Given the description of an element on the screen output the (x, y) to click on. 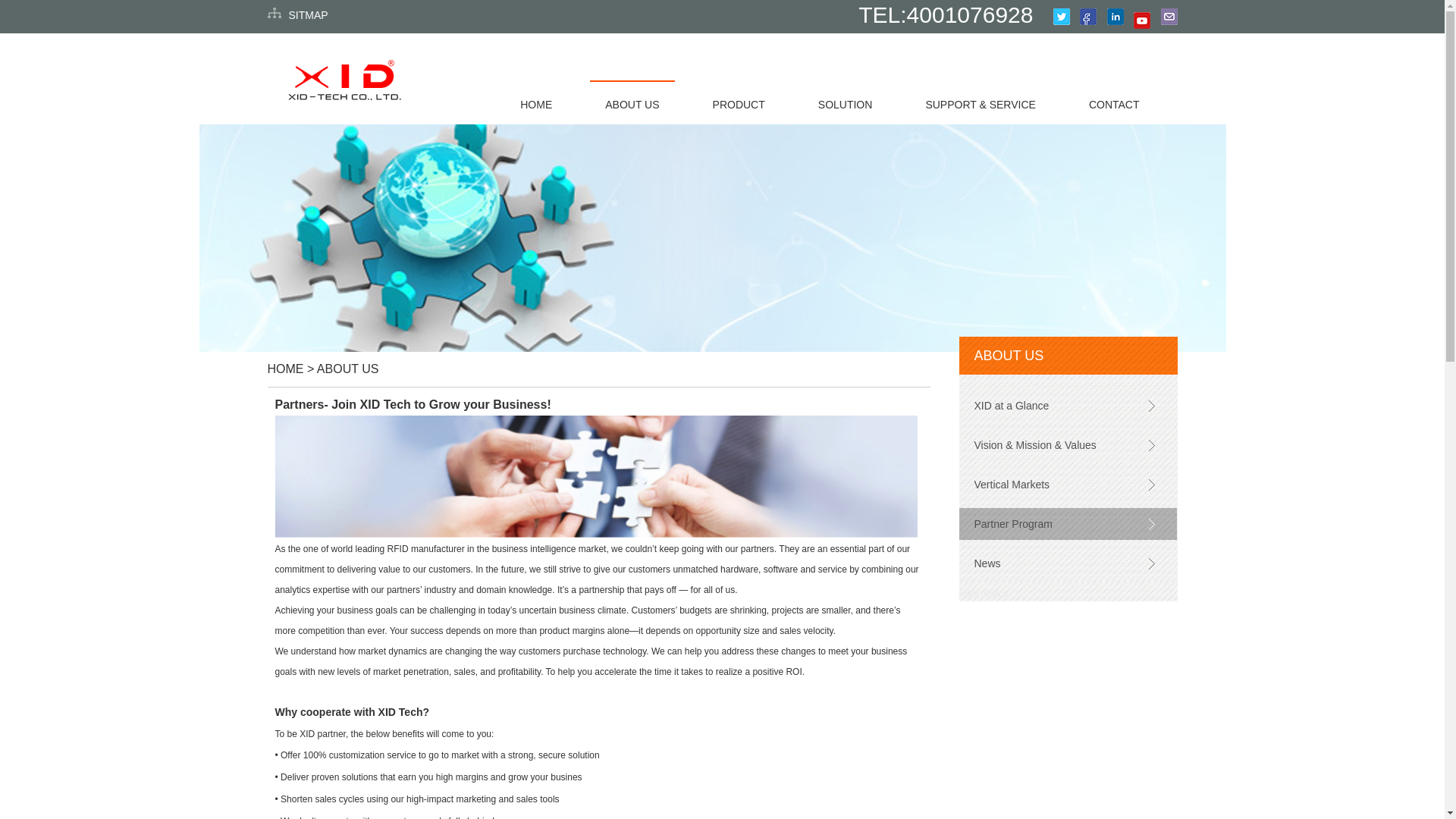
Partner Program (1067, 523)
PRODUCT (738, 103)
HOME (284, 368)
XID at a Glance (1067, 405)
ABOUT US (631, 103)
News (1067, 563)
Vertical Markets (1067, 484)
SITMAP (307, 15)
ABOUT US (347, 368)
HOME (536, 103)
SOLUTION (845, 103)
TEL:4001076928 (945, 14)
1476091522553465.png (596, 476)
CONTACT (1114, 103)
